Given the description of an element on the screen output the (x, y) to click on. 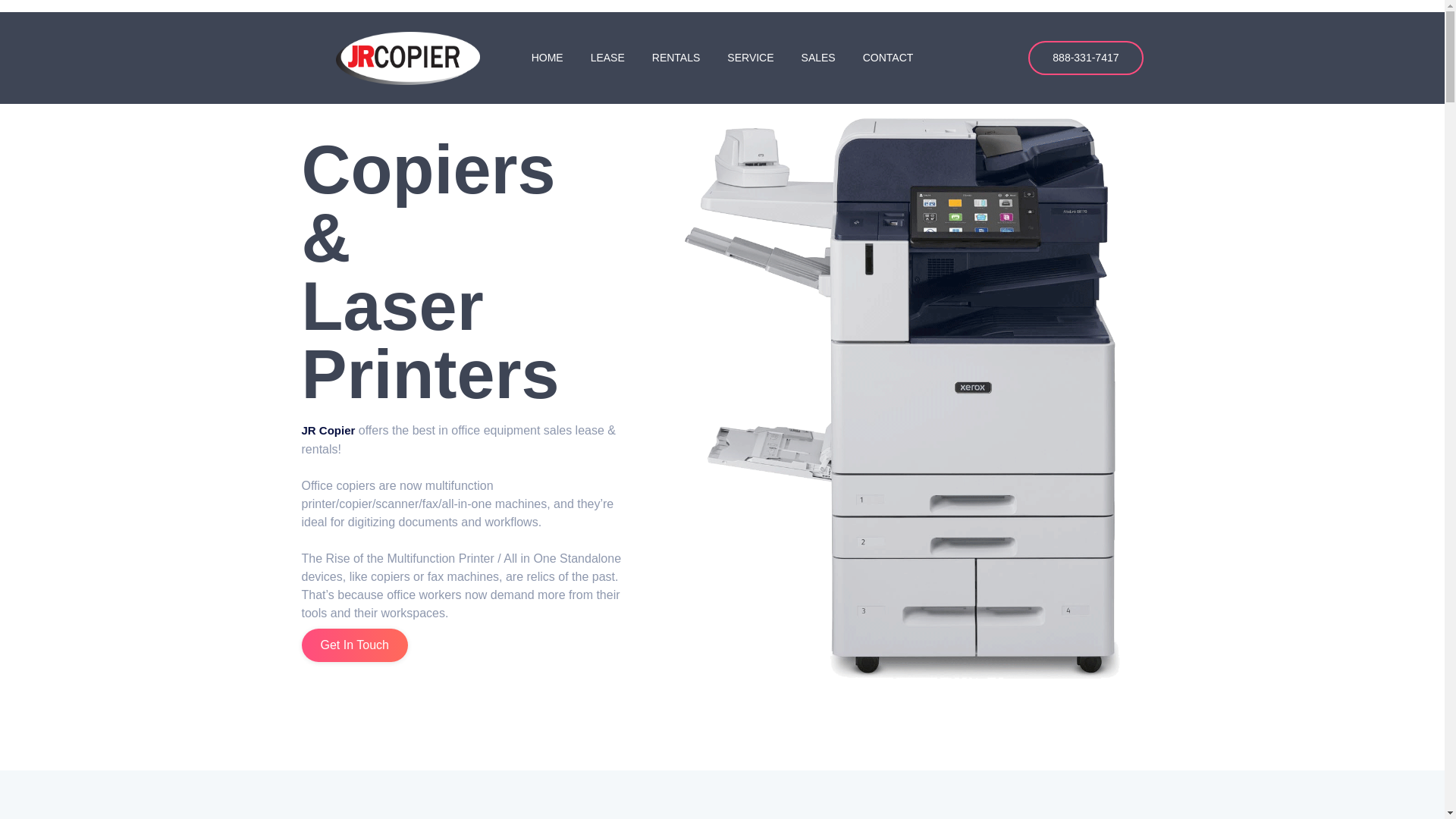
888-331-7417 (1085, 57)
Get In Touch (354, 644)
CONTACT (887, 58)
SALES (817, 58)
HOME (547, 58)
RENTALS (676, 58)
SERVICE (750, 58)
LEASE (607, 58)
